Given the description of an element on the screen output the (x, y) to click on. 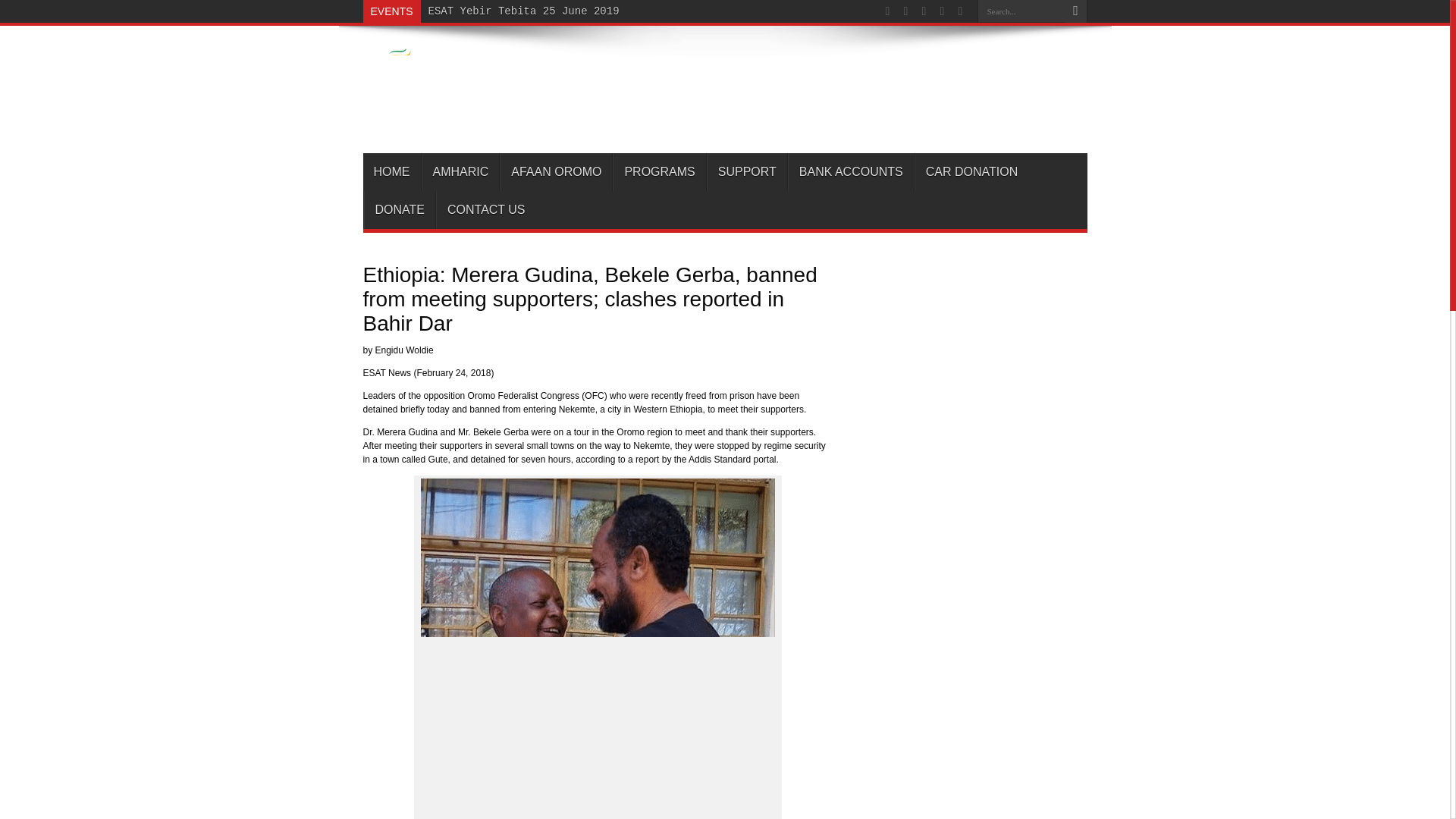
ESAT Yebir Tebita 25 June 2019 (524, 11)
ESAT Yebir Tebita 25 June 2019 (524, 11)
AMHARIC (460, 171)
DONATE (399, 209)
AFAAN OROMO (555, 171)
Search (1075, 11)
CONTACT US (485, 209)
BANK ACCOUNTS (850, 171)
Search... (1020, 11)
SUPPORT (746, 171)
PROGRAMS (658, 171)
CAR DONATION (970, 171)
HOME (391, 171)
